Given the description of an element on the screen output the (x, y) to click on. 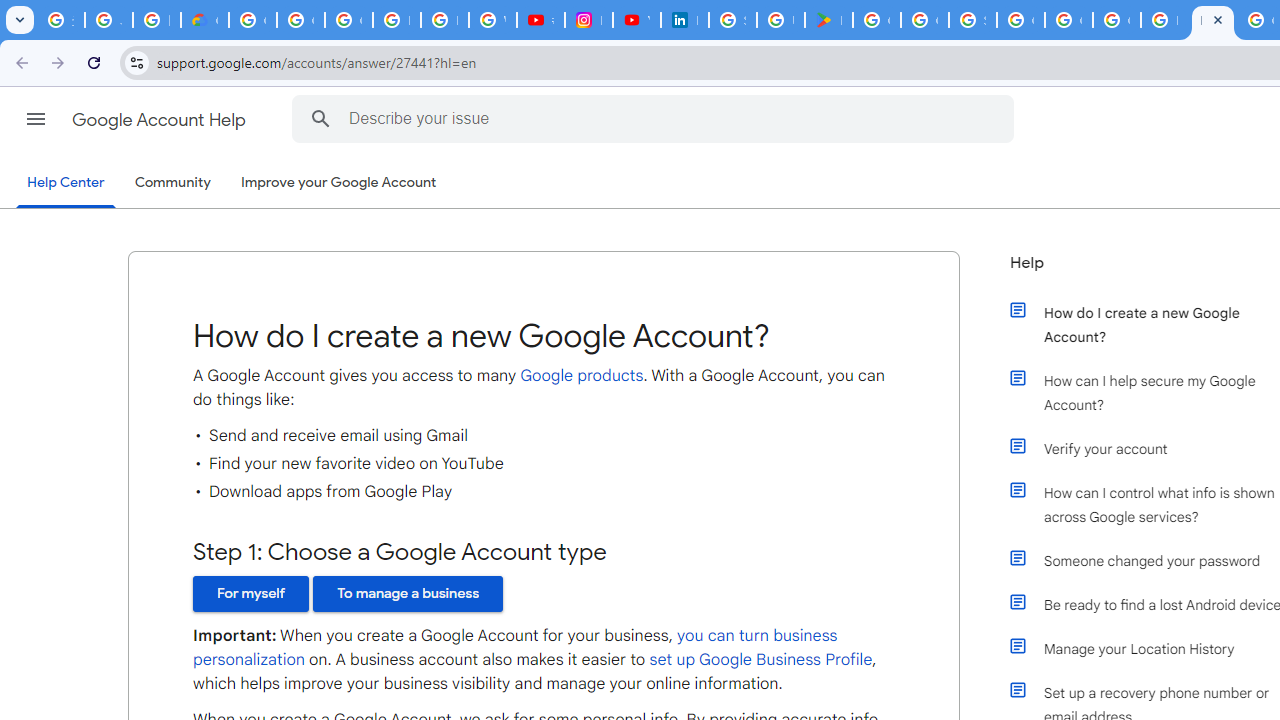
Main menu (35, 119)
